Given the description of an element on the screen output the (x, y) to click on. 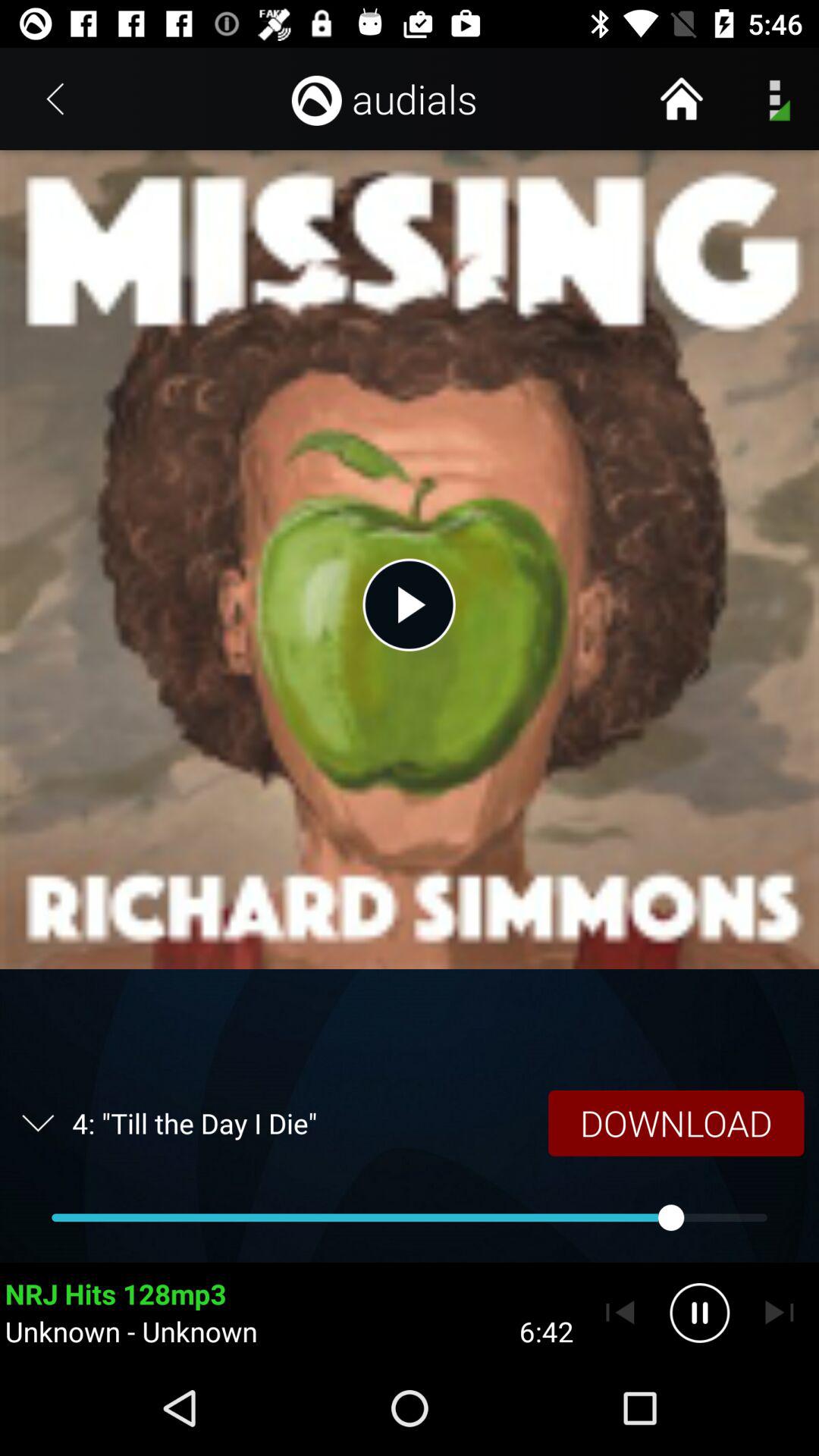
open the item next to audials (681, 98)
